Given the description of an element on the screen output the (x, y) to click on. 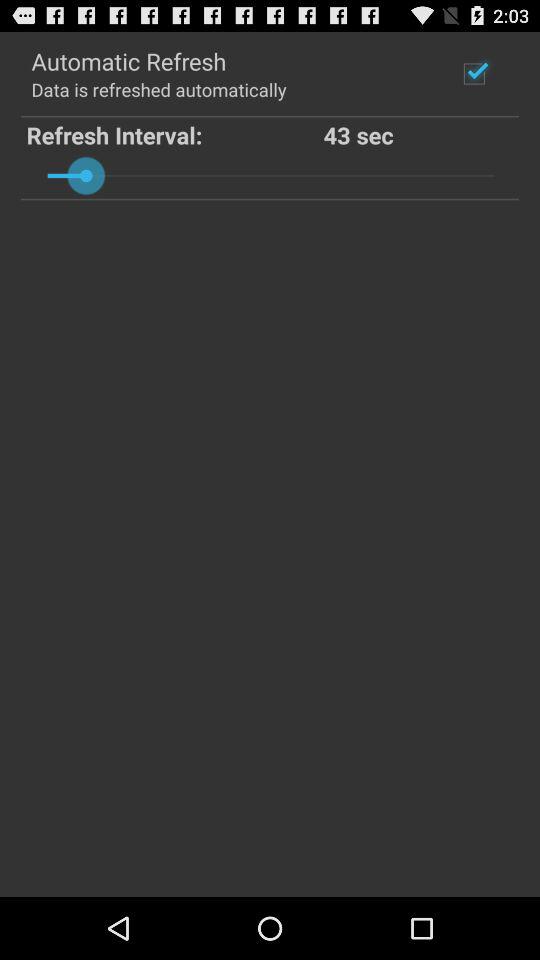
press the item next to data is refreshed app (474, 73)
